Given the description of an element on the screen output the (x, y) to click on. 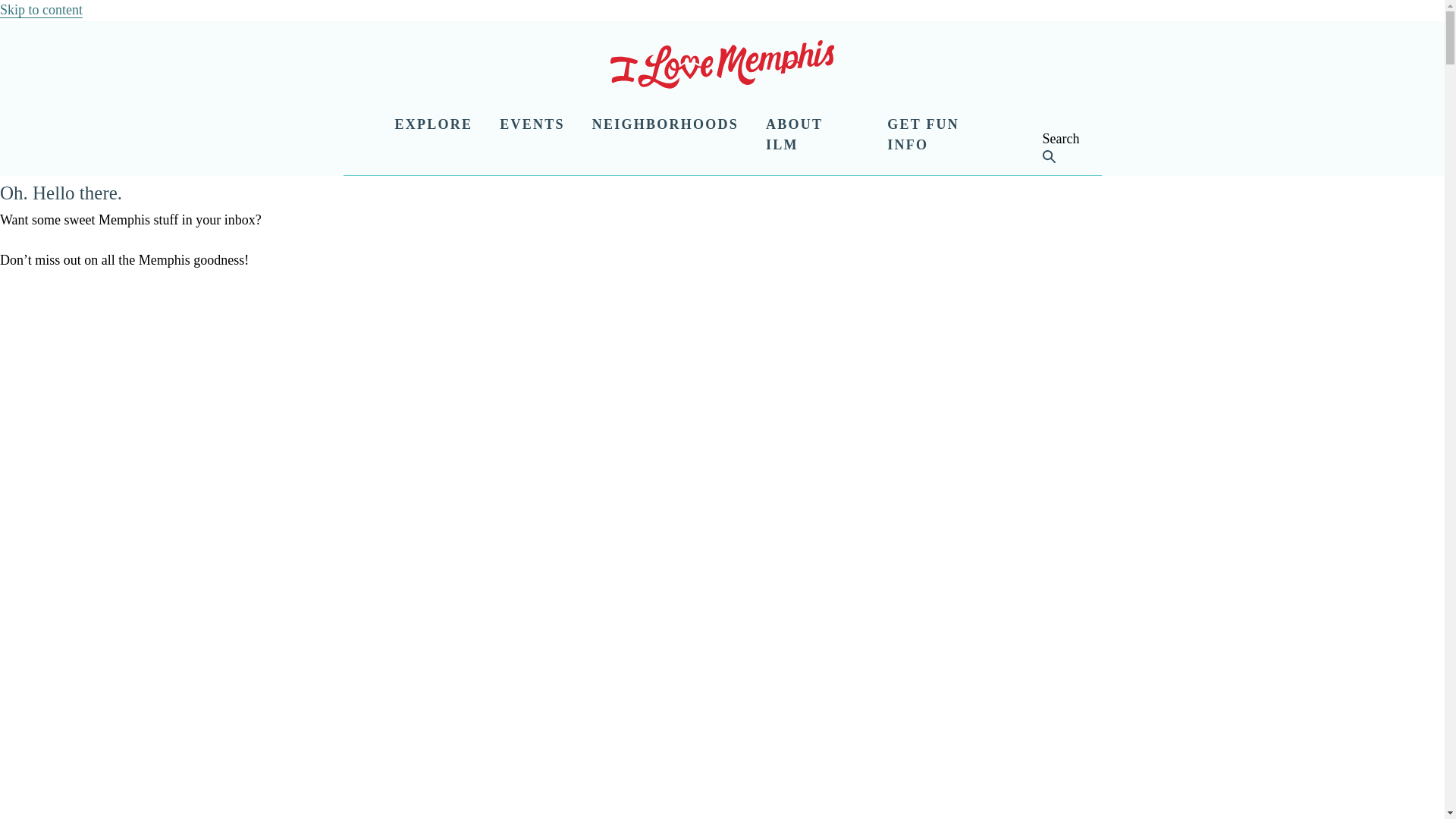
Skip to content (41, 10)
I Love Memphis Logo (722, 64)
I Love Memphis Logo (722, 67)
EXPLORE (433, 125)
Search (1014, 154)
MemphisTravel.com:Home (722, 67)
